Given the description of an element on the screen output the (x, y) to click on. 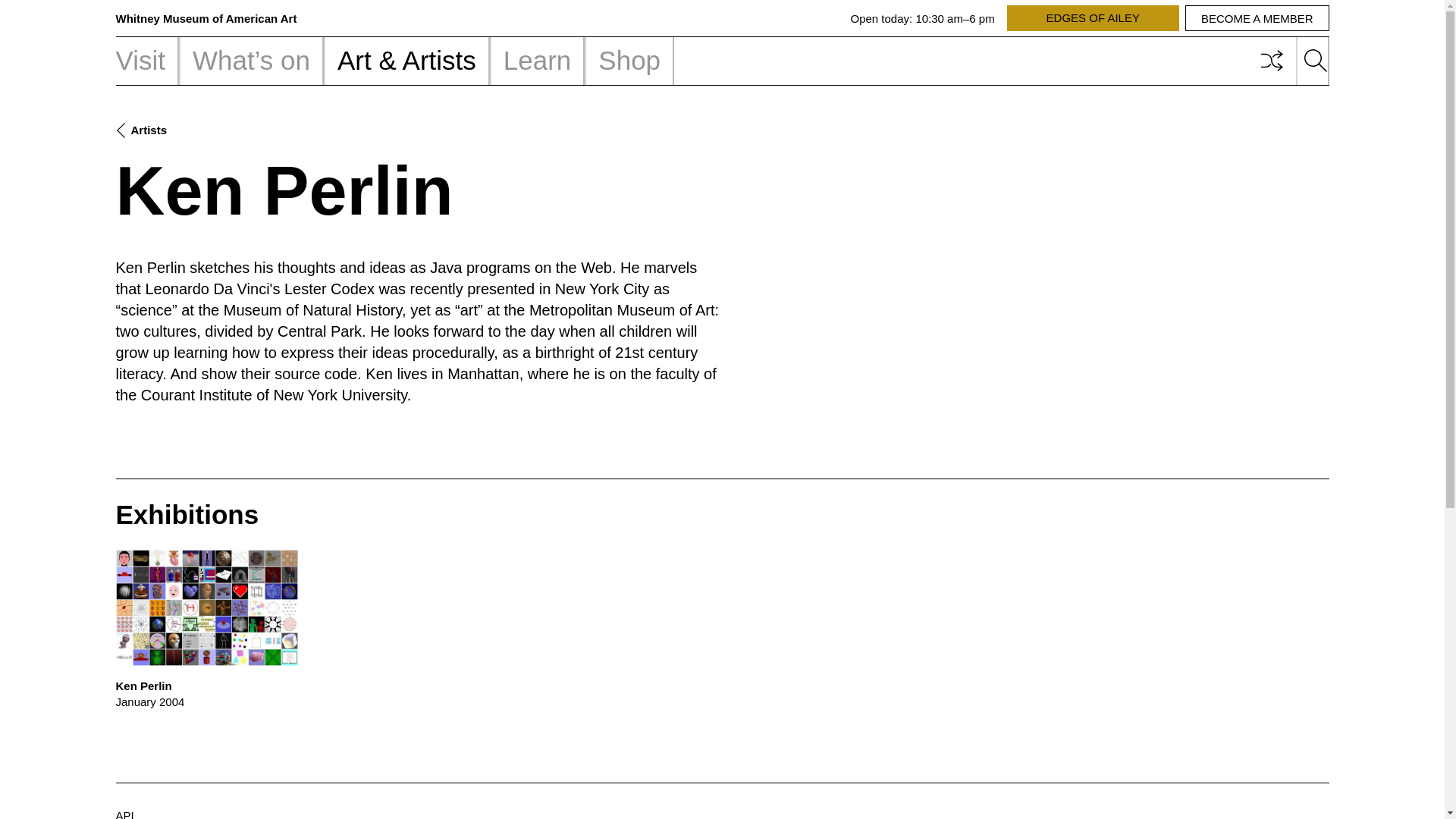
Whitney Museum of American Art (1093, 18)
Learn (206, 18)
Visit (537, 60)
BECOME A MEMBER (147, 60)
